Given the description of an element on the screen output the (x, y) to click on. 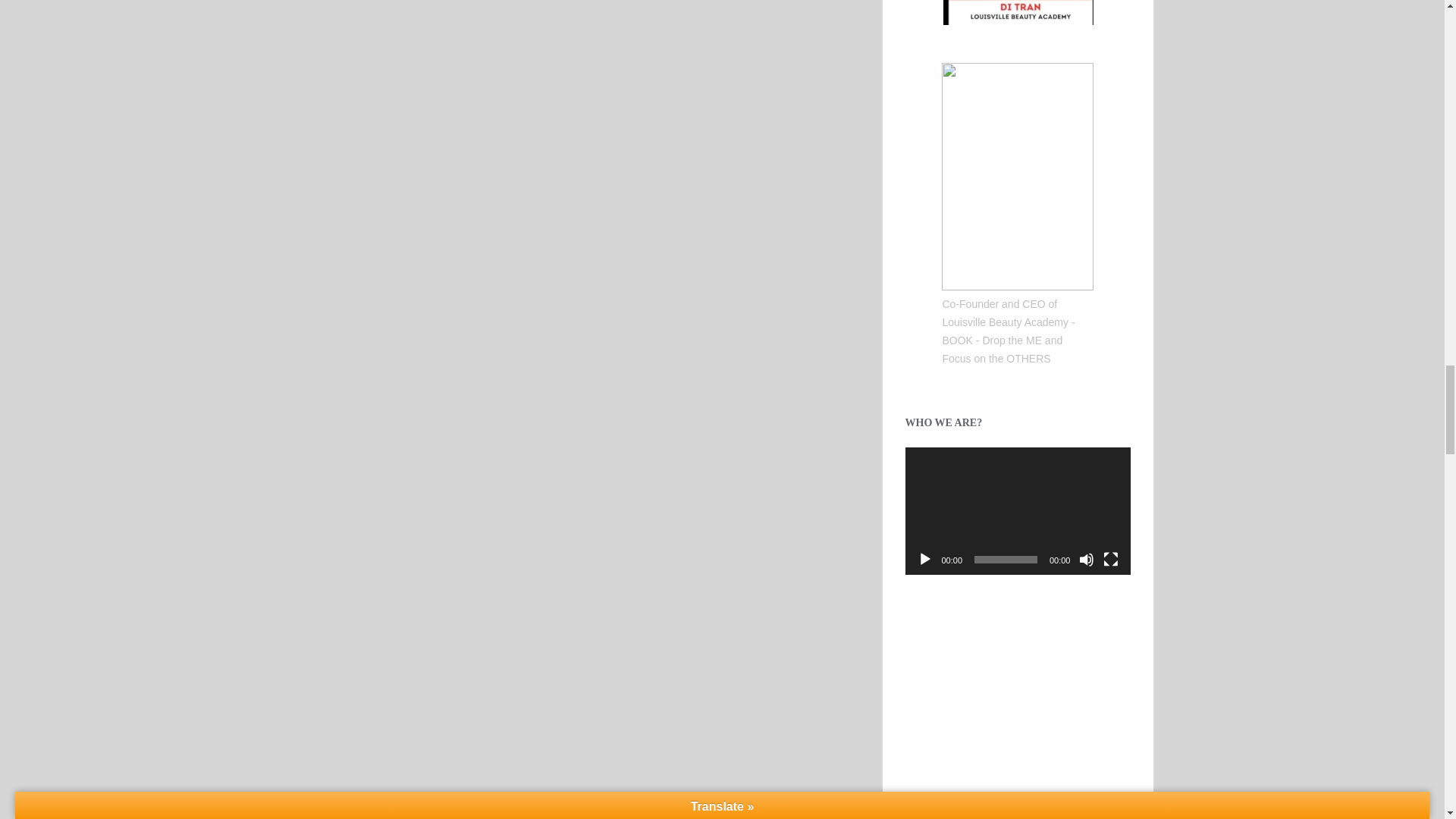
Mute (1086, 559)
Fullscreen (1110, 559)
Play (925, 559)
